Given the description of an element on the screen output the (x, y) to click on. 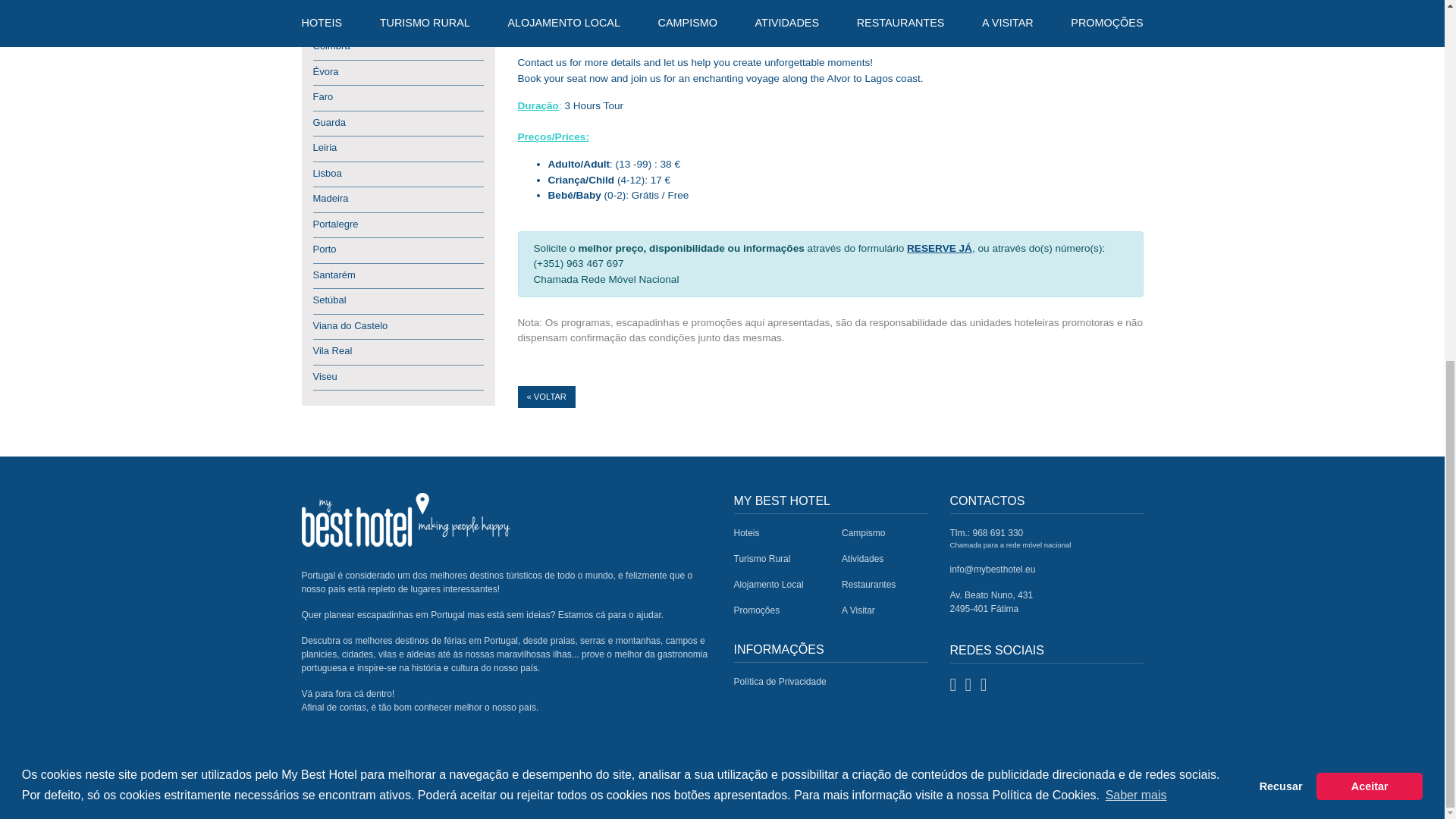
Aceitar (1369, 145)
Recusar (1280, 145)
Saber mais (1135, 155)
